Given the description of an element on the screen output the (x, y) to click on. 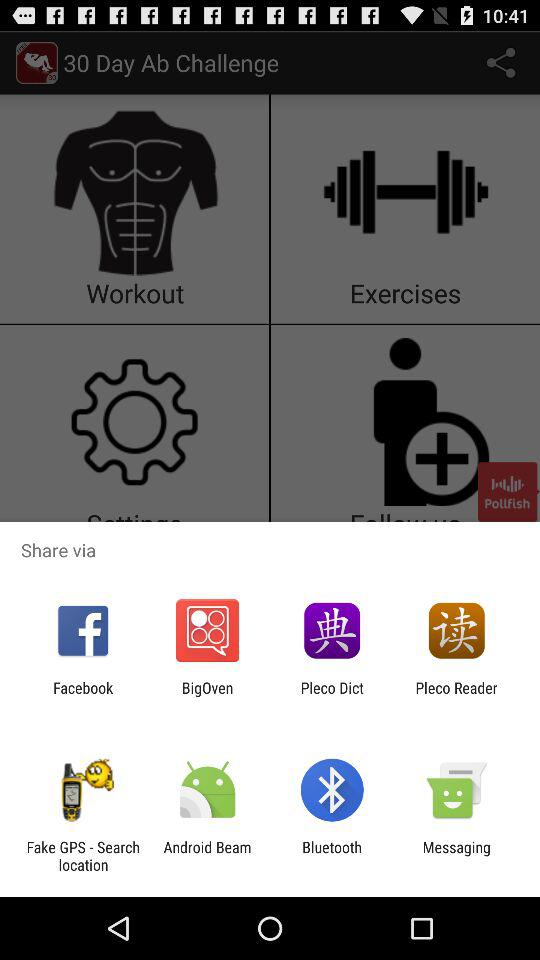
press the item next to the pleco reader app (331, 696)
